Given the description of an element on the screen output the (x, y) to click on. 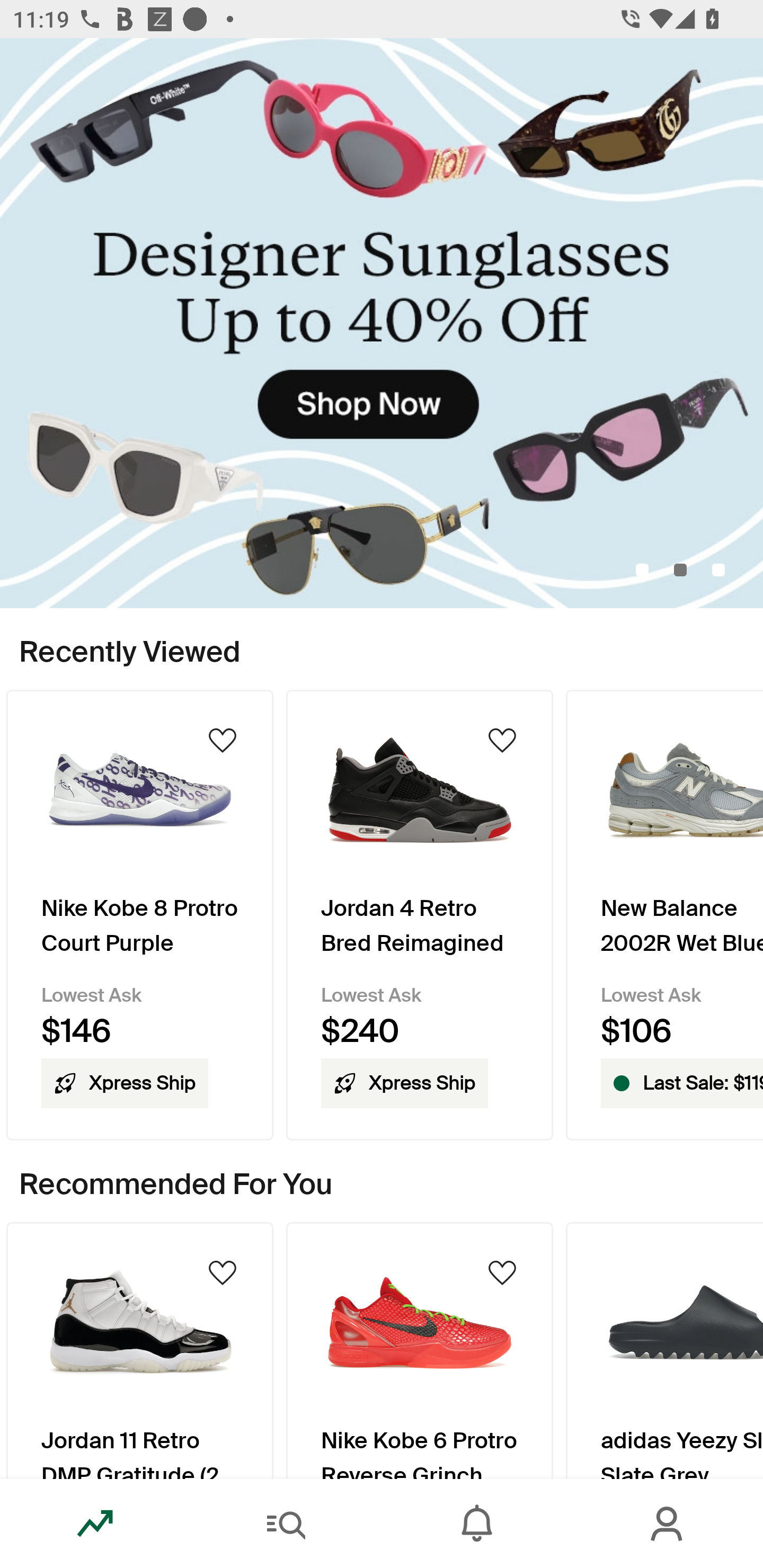
DesignerSunglassesUpto40_Off_Primary_Mobile.jpg (381, 322)
Product Image Jordan 11 Retro DMP Gratitude (2023) (139, 1349)
Product Image Nike Kobe 6 Protro Reverse Grinch (419, 1349)
Product Image adidas Yeezy Slide Slate Grey (664, 1349)
Search (285, 1523)
Inbox (476, 1523)
Account (667, 1523)
